Given the description of an element on the screen output the (x, y) to click on. 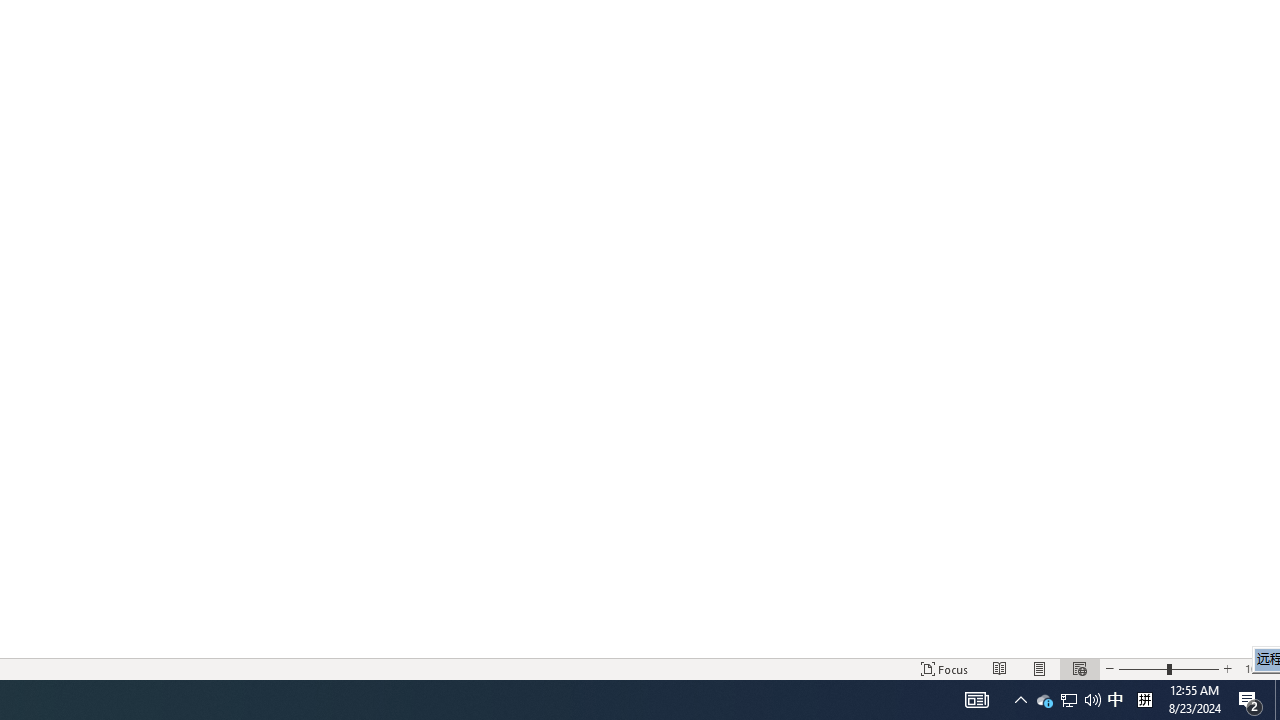
Zoom (1168, 668)
Zoom 100% (1258, 668)
